Given the description of an element on the screen output the (x, y) to click on. 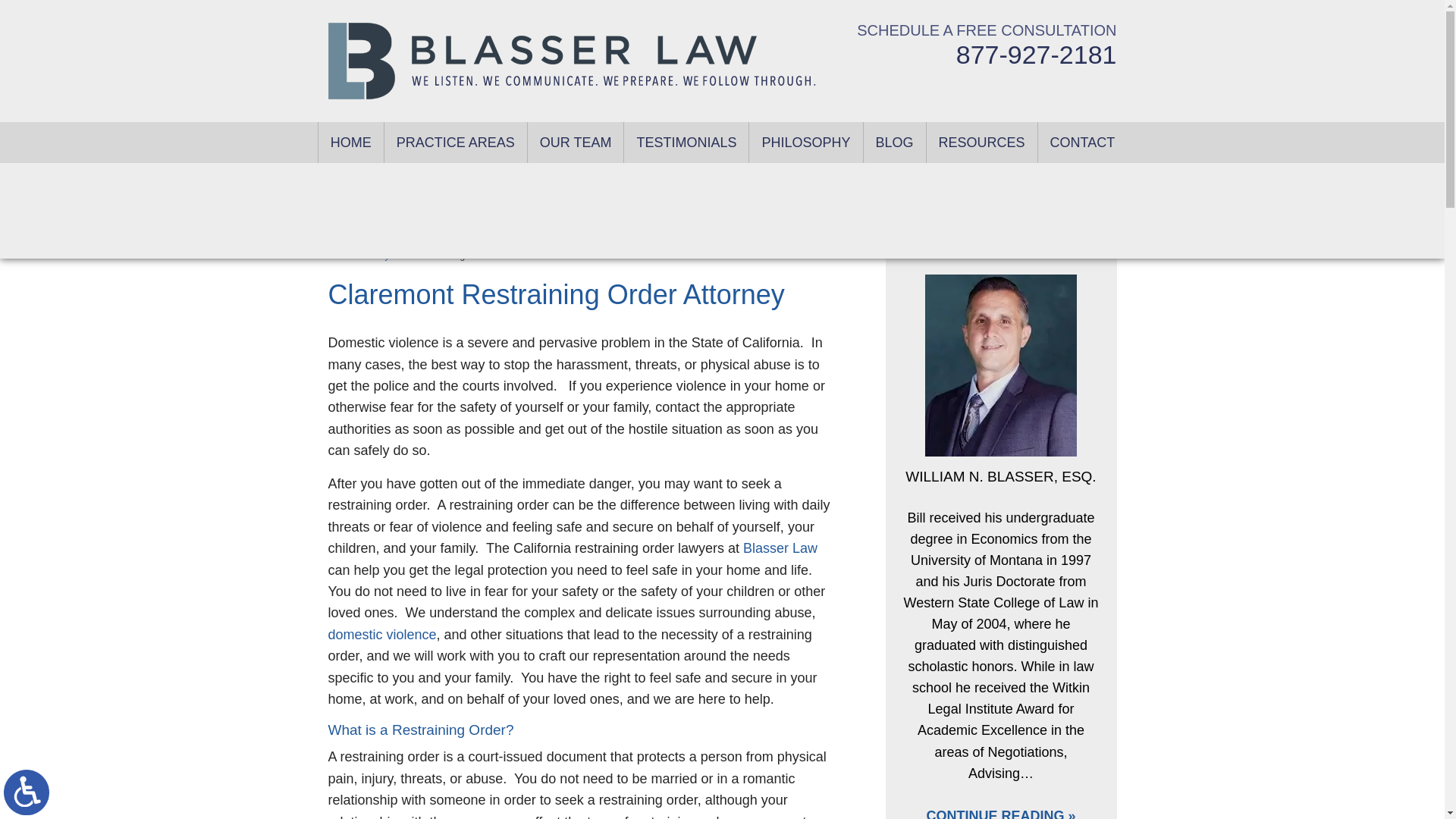
MENU (662, 12)
SEARCH (801, 12)
EMAIL (743, 12)
877-927-2181 (1036, 54)
Switch to ADA Accessible Theme (26, 791)
HOME (351, 142)
PRACTICE AREAS (455, 142)
VISIT (774, 12)
CALL (711, 12)
